Given the description of an element on the screen output the (x, y) to click on. 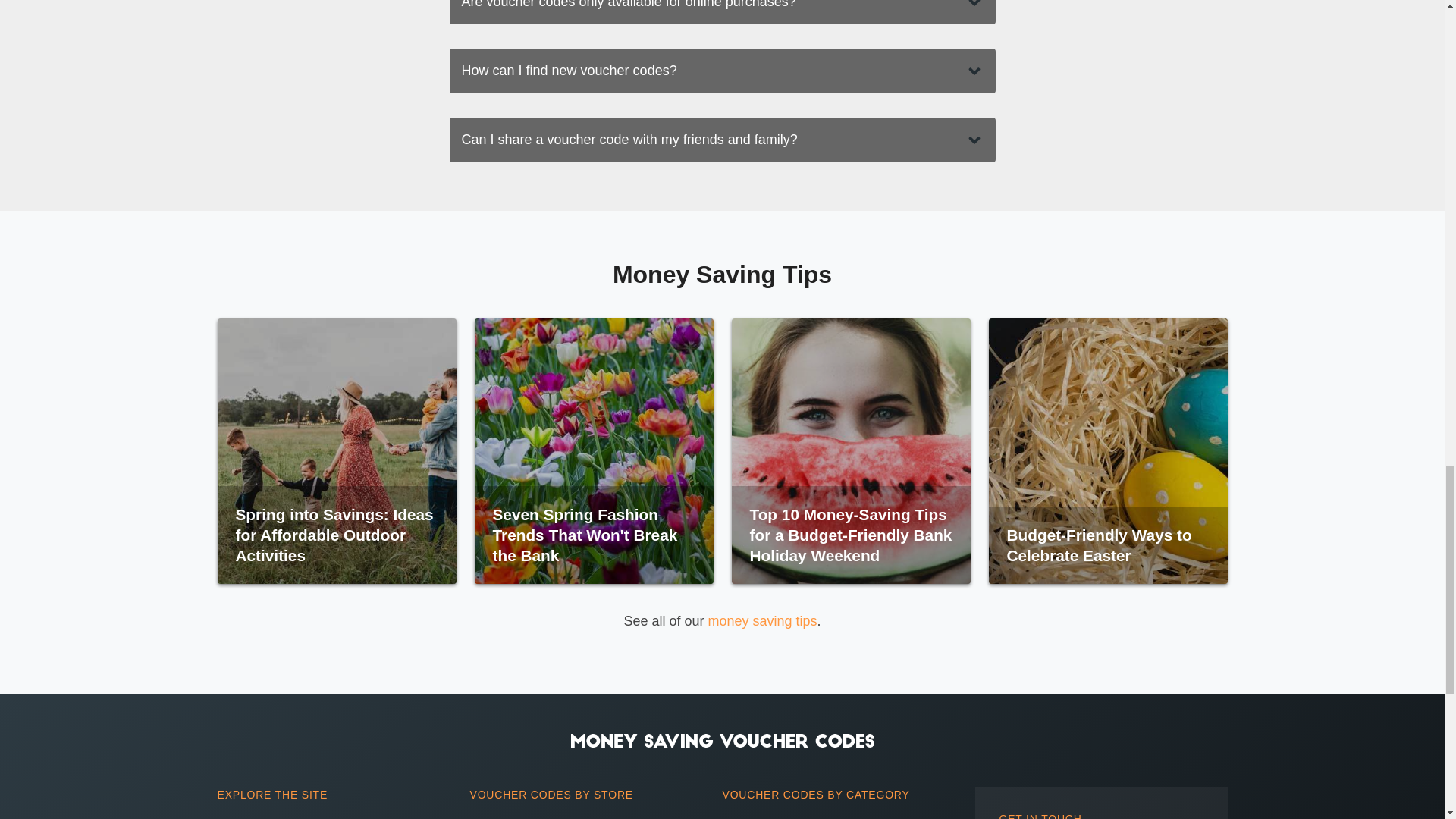
Visit our Homepage (721, 739)
